Given the description of an element on the screen output the (x, y) to click on. 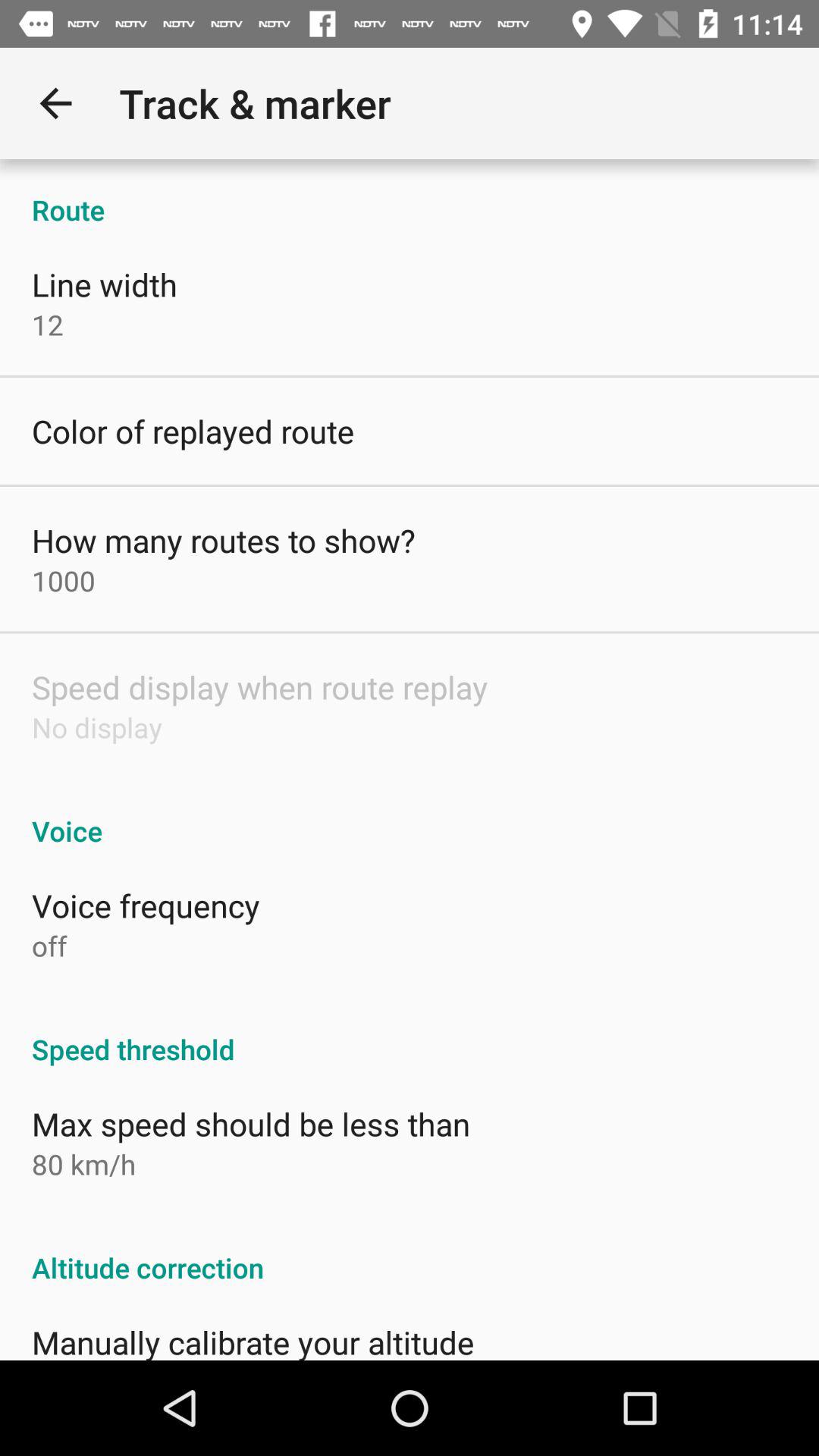
click the icon to the left of the track & marker icon (55, 103)
